Given the description of an element on the screen output the (x, y) to click on. 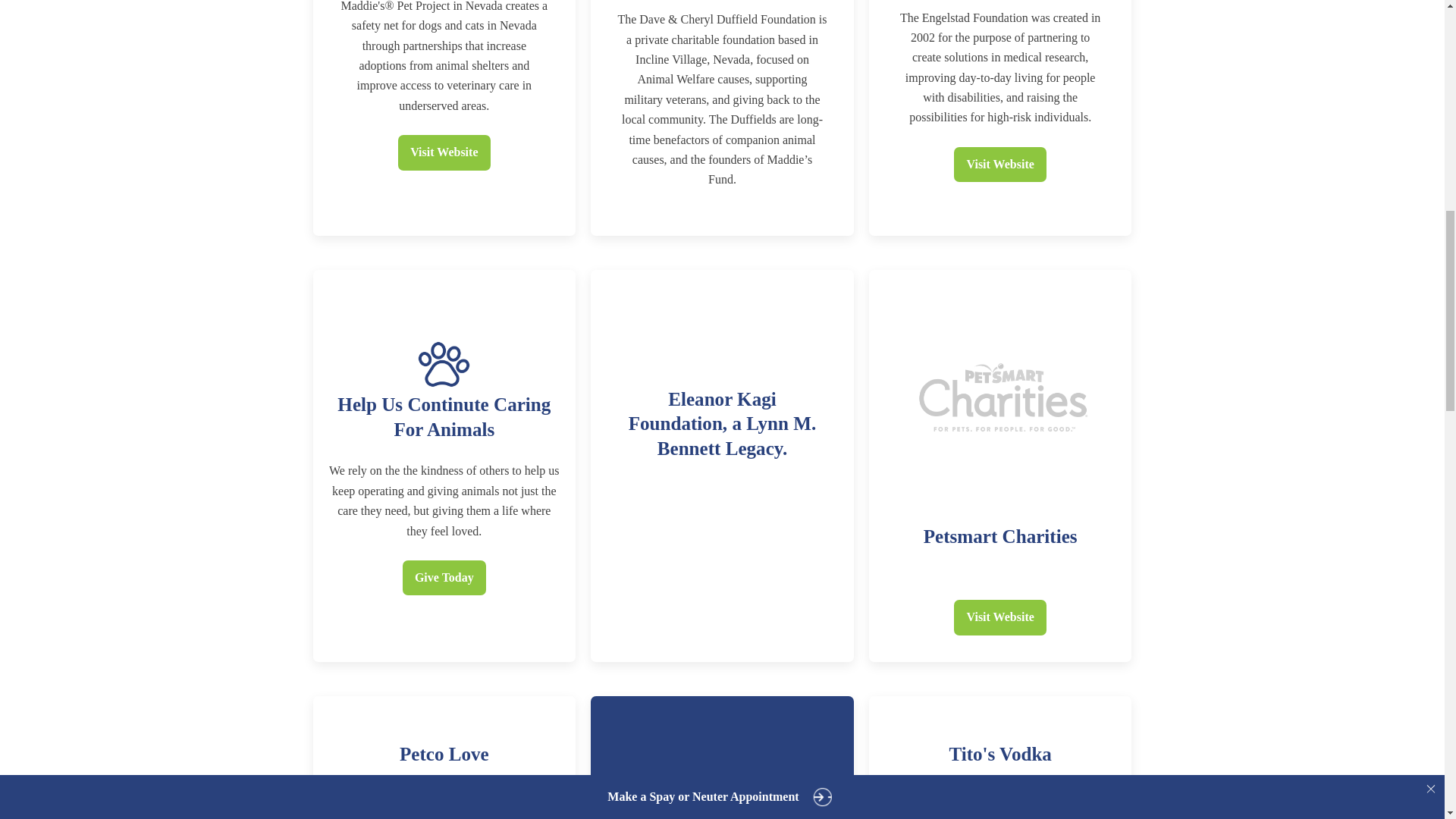
Give Today (444, 577)
Visit Website (443, 152)
Visit Website (999, 164)
Visit Website (999, 616)
